Given the description of an element on the screen output the (x, y) to click on. 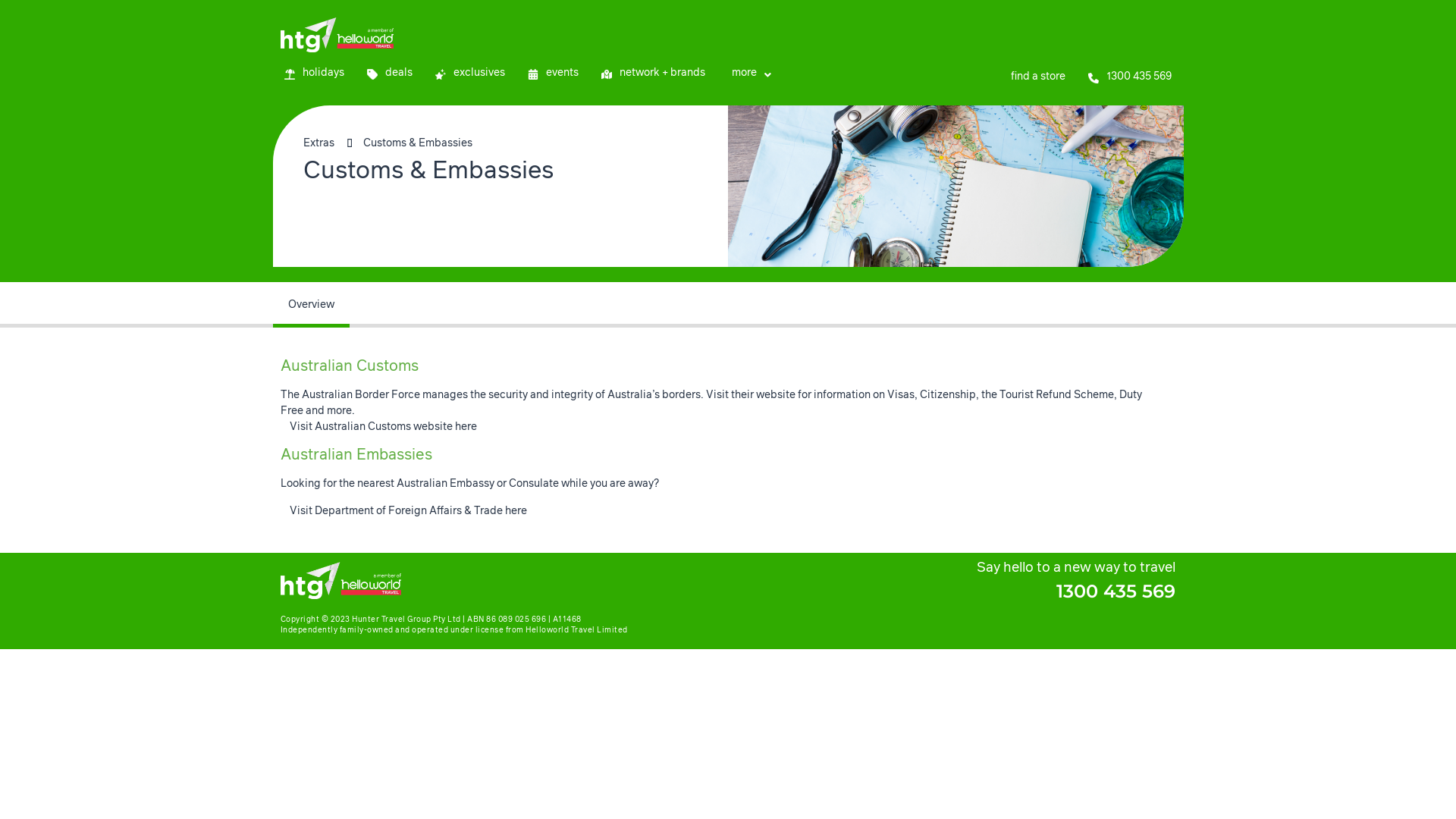
find a store Element type: text (1035, 77)
1300 435 569 Element type: text (1129, 77)
    Visit Australian Customs website here Element type: text (378, 426)
    Visit Department of Foreign Affairs & Trade here Element type: text (403, 510)
deals Element type: text (388, 73)
more Element type: text (748, 73)
Extras Element type: text (318, 143)
1300 435 569 Element type: text (1115, 591)
events Element type: text (552, 73)
Overview Element type: text (311, 304)
holidays Element type: text (314, 73)
exclusives Element type: text (469, 73)
network + brands Element type: text (652, 73)
